Given the description of an element on the screen output the (x, y) to click on. 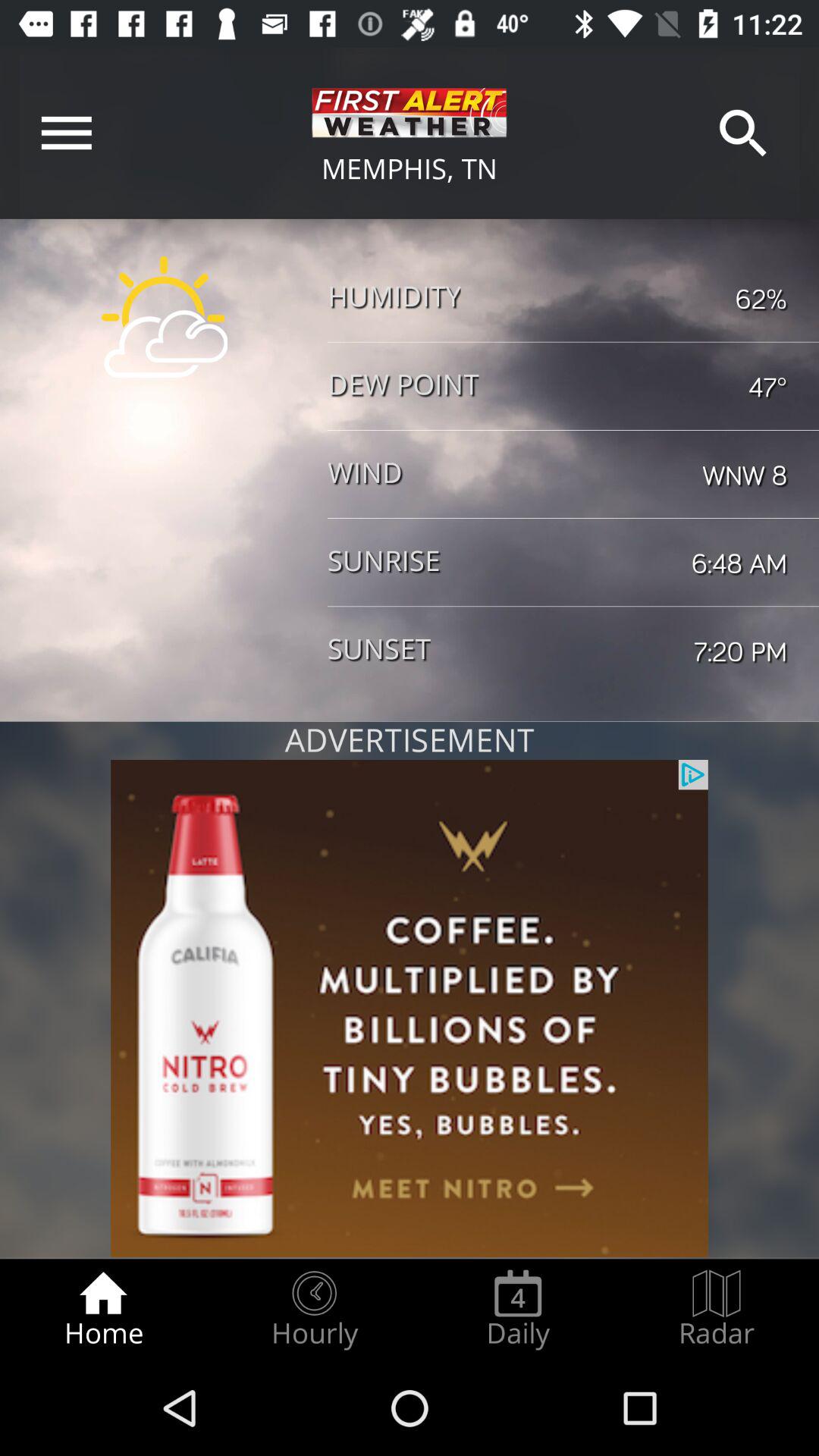
advertisement link (409, 1008)
